Given the description of an element on the screen output the (x, y) to click on. 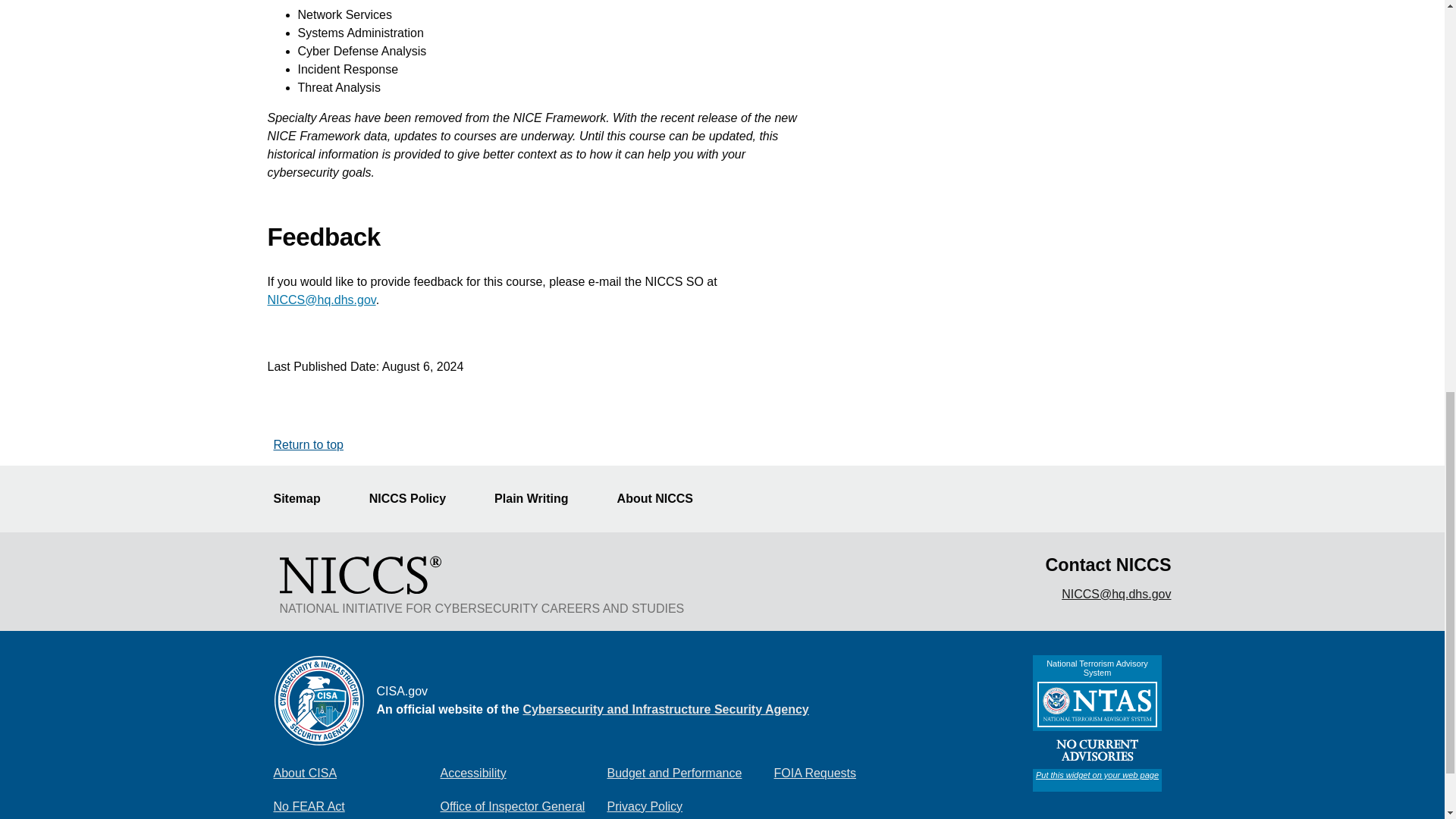
Privacy Policy (690, 805)
About NICCS (664, 499)
Accessibility (523, 773)
Sitemap (305, 499)
NICCS Policy (416, 499)
Office of Inspector General (523, 805)
Budget and Performance (690, 773)
Cybersecurity and Infrastructure Security Agency (665, 708)
No FEAR Act (356, 805)
National Terrorism Advisory System (1096, 723)
